Given the description of an element on the screen output the (x, y) to click on. 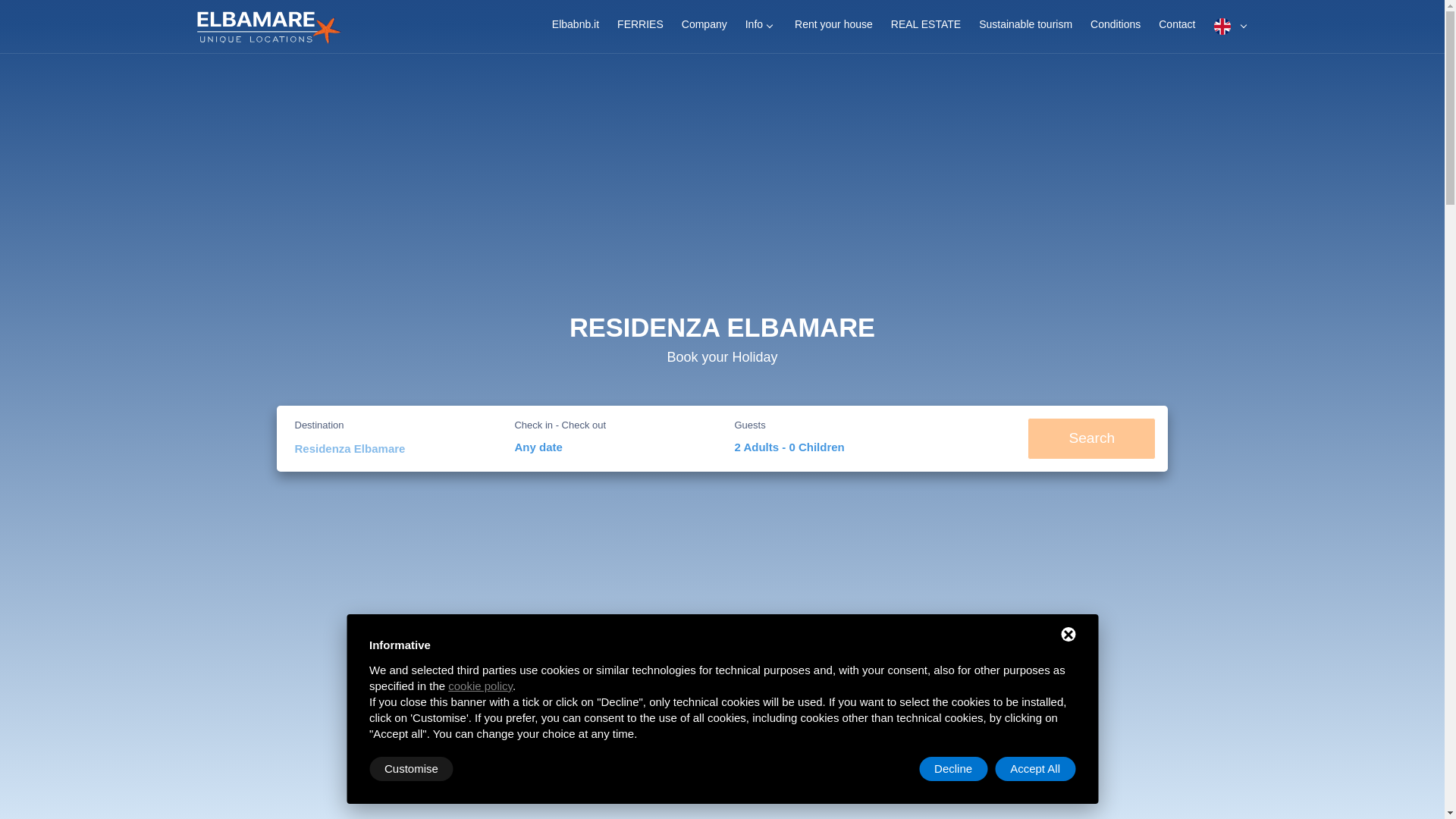
Conditions (1115, 26)
FERRIES (640, 26)
Residenza Elbamare (395, 448)
Sustainable tourism (1025, 26)
Contact (1177, 26)
Company (704, 26)
Residenza Elbamare (395, 448)
Rent your house (834, 26)
Search (1091, 438)
Elbabnb.it (575, 26)
Info (761, 26)
REAL ESTATE (925, 26)
